Given the description of an element on the screen output the (x, y) to click on. 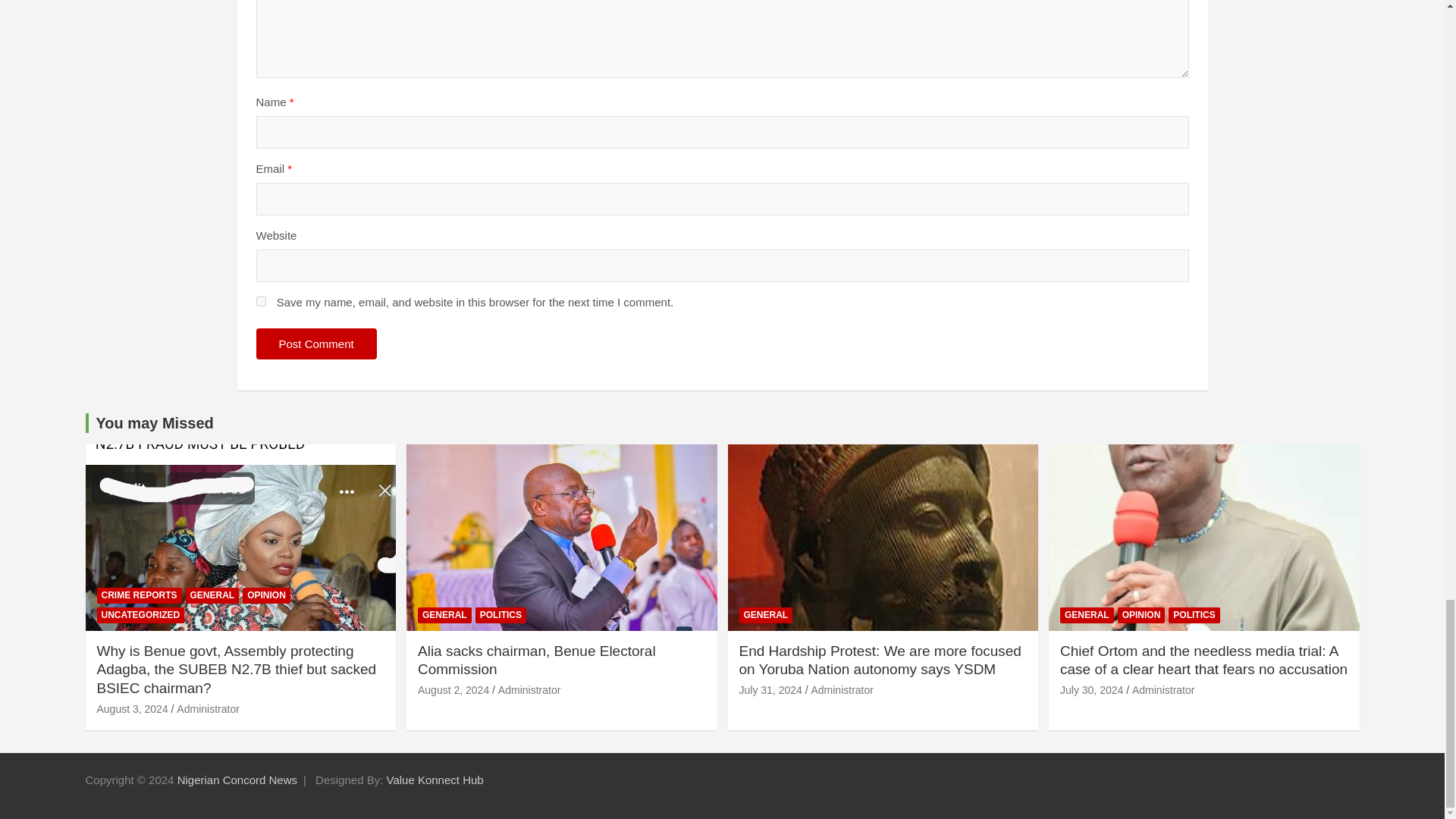
CRIME REPORTS (139, 595)
August 3, 2024 (132, 708)
You may Missed (154, 422)
UNCATEGORIZED (140, 615)
Post Comment (316, 343)
GENERAL (444, 615)
Alia sacks chairman, Benue Electoral Commission (536, 660)
OPINION (266, 595)
GENERAL (213, 595)
yes (261, 301)
Post Comment (316, 343)
